Given the description of an element on the screen output the (x, y) to click on. 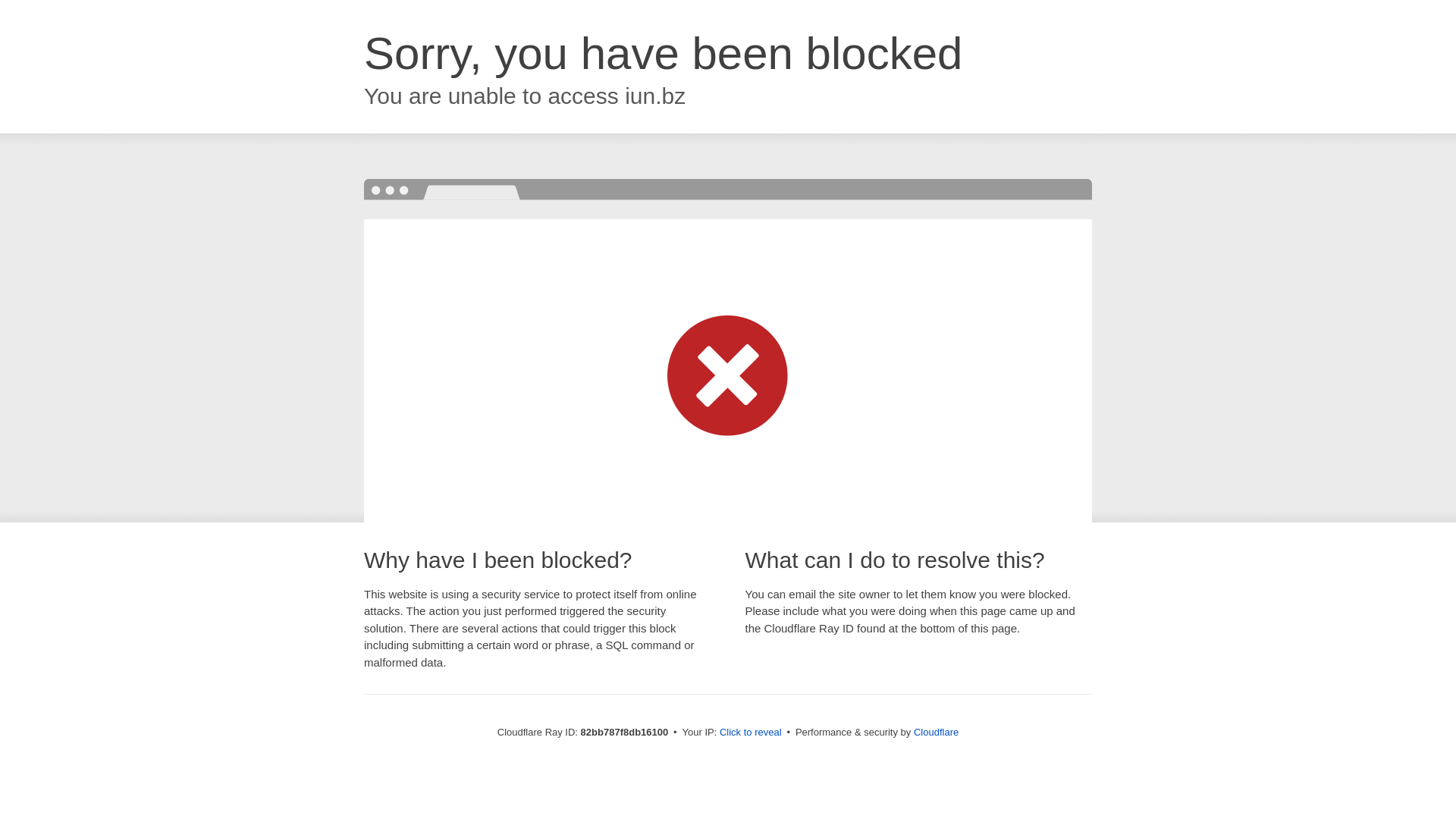
Cloudflare Element type: text (935, 731)
Click to reveal Element type: text (750, 732)
